Given the description of an element on the screen output the (x, y) to click on. 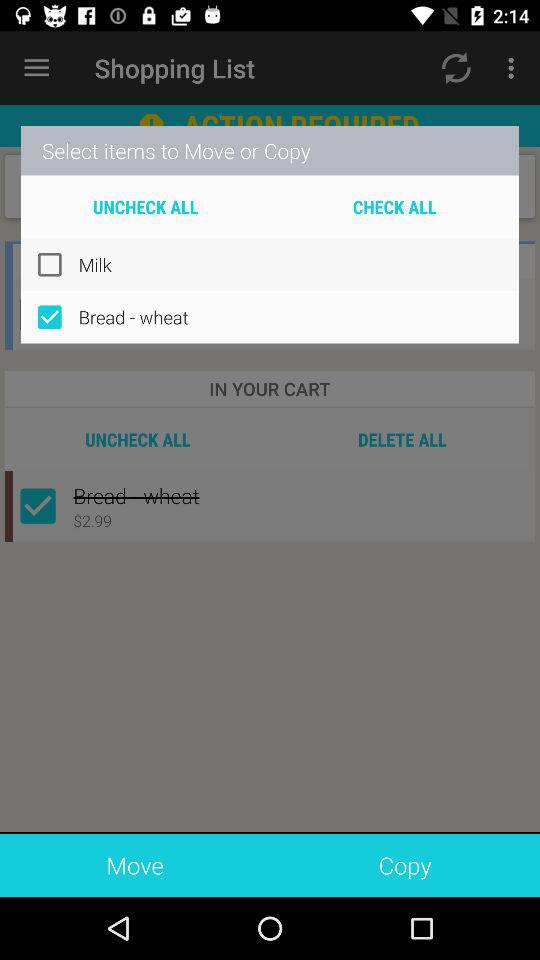
jump until uncheck all item (145, 206)
